Given the description of an element on the screen output the (x, y) to click on. 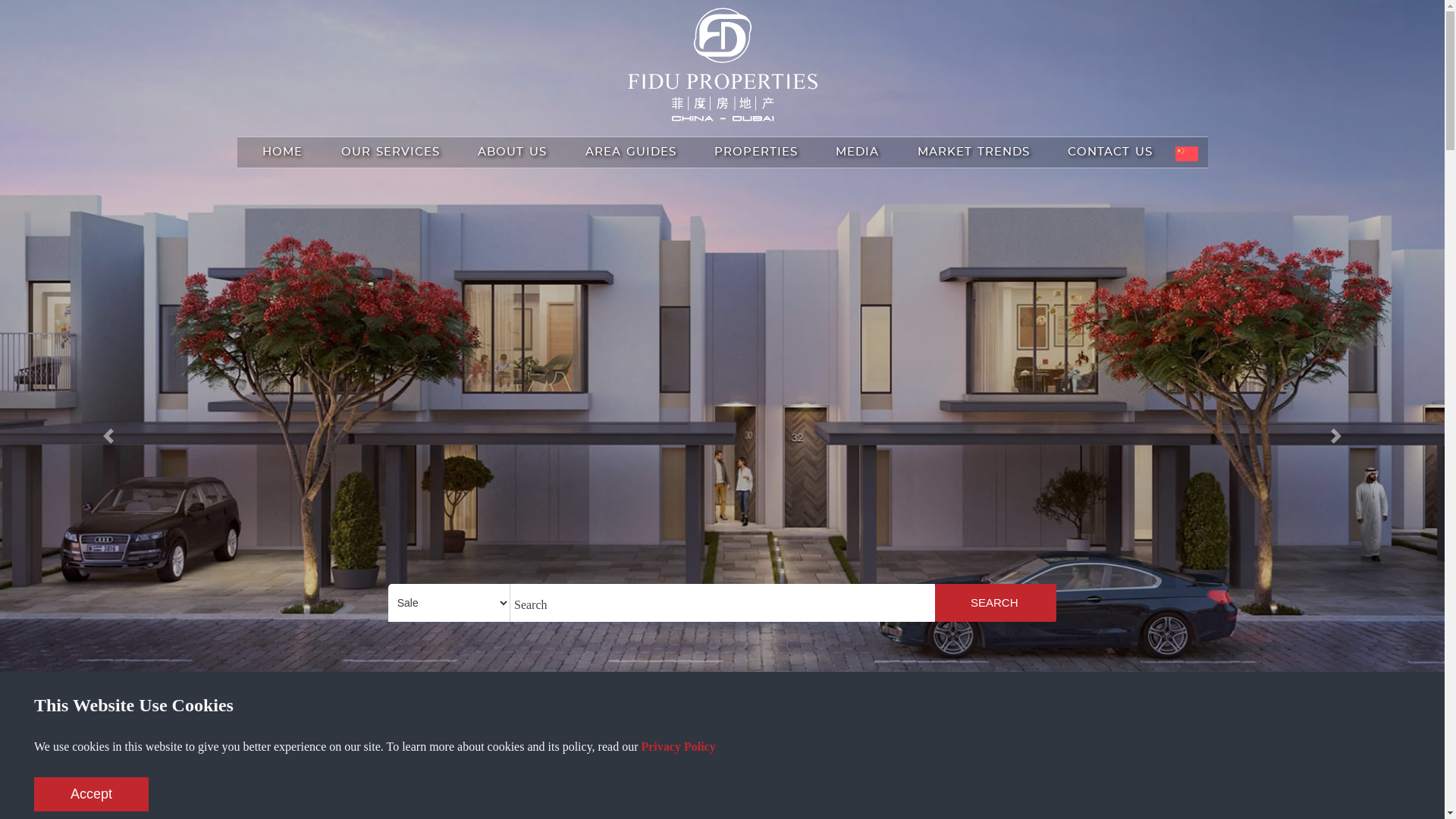
Next Element type: text (1335, 435)
OUR SERVICES Element type: text (390, 152)
AREA GUIDES Element type: text (630, 152)
Previous Element type: text (108, 435)
Visit Chinese Website Element type: hover (1186, 153)
Privacy Policy Element type: text (677, 746)
PROPERTIES Element type: text (755, 152)
MEDIA Element type: text (857, 152)
MARKET TRENDS Element type: text (973, 152)
Accept Element type: text (91, 794)
CONTACT US Element type: text (1110, 152)
SEARCH  Element type: text (995, 602)
HOME Element type: text (282, 152)
ABOUT US Element type: text (512, 152)
